Given the description of an element on the screen output the (x, y) to click on. 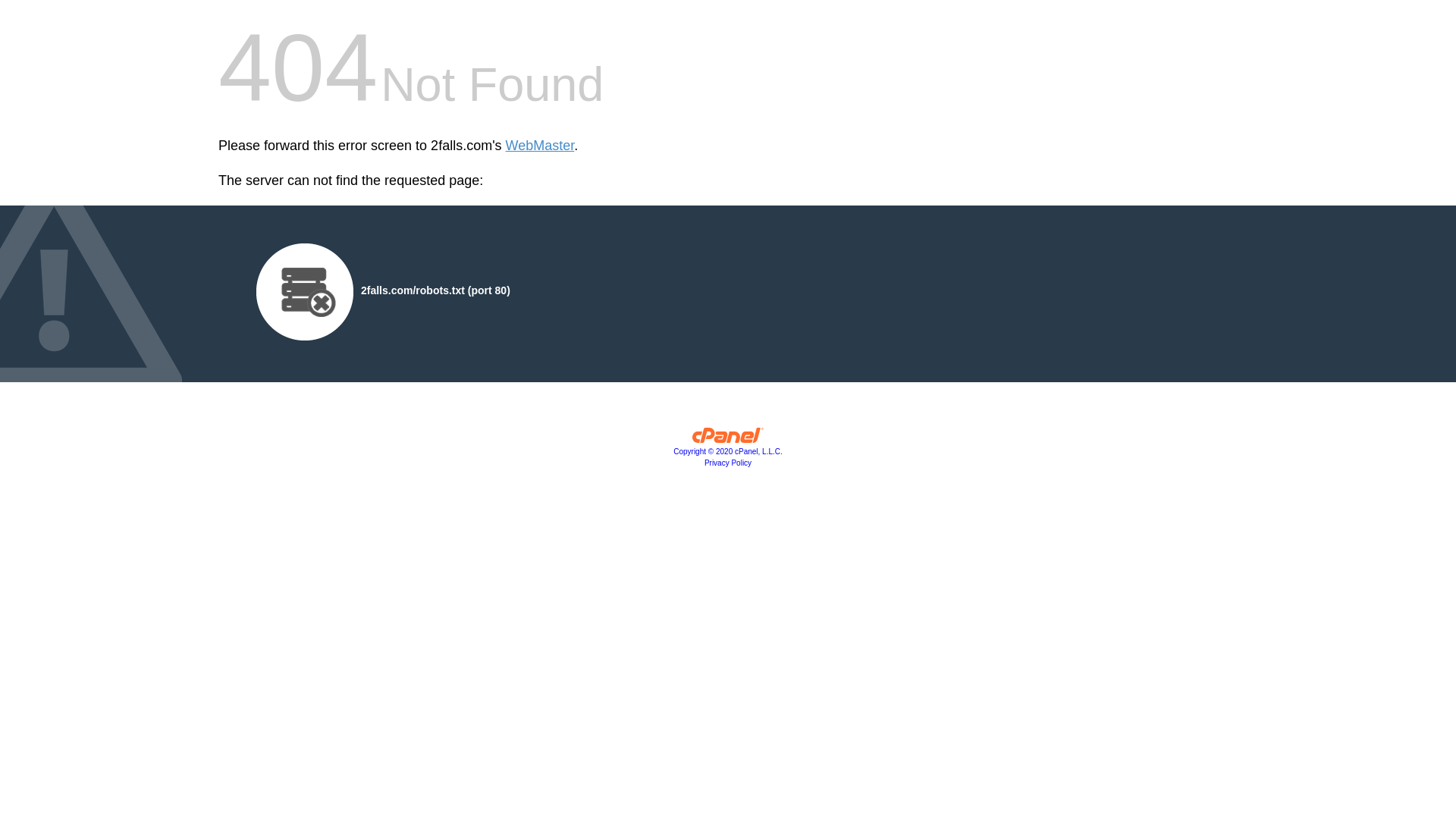
Privacy Policy Element type: text (727, 462)
WebMaster Element type: text (539, 145)
cPanel, Inc. Element type: hover (728, 439)
